Given the description of an element on the screen output the (x, y) to click on. 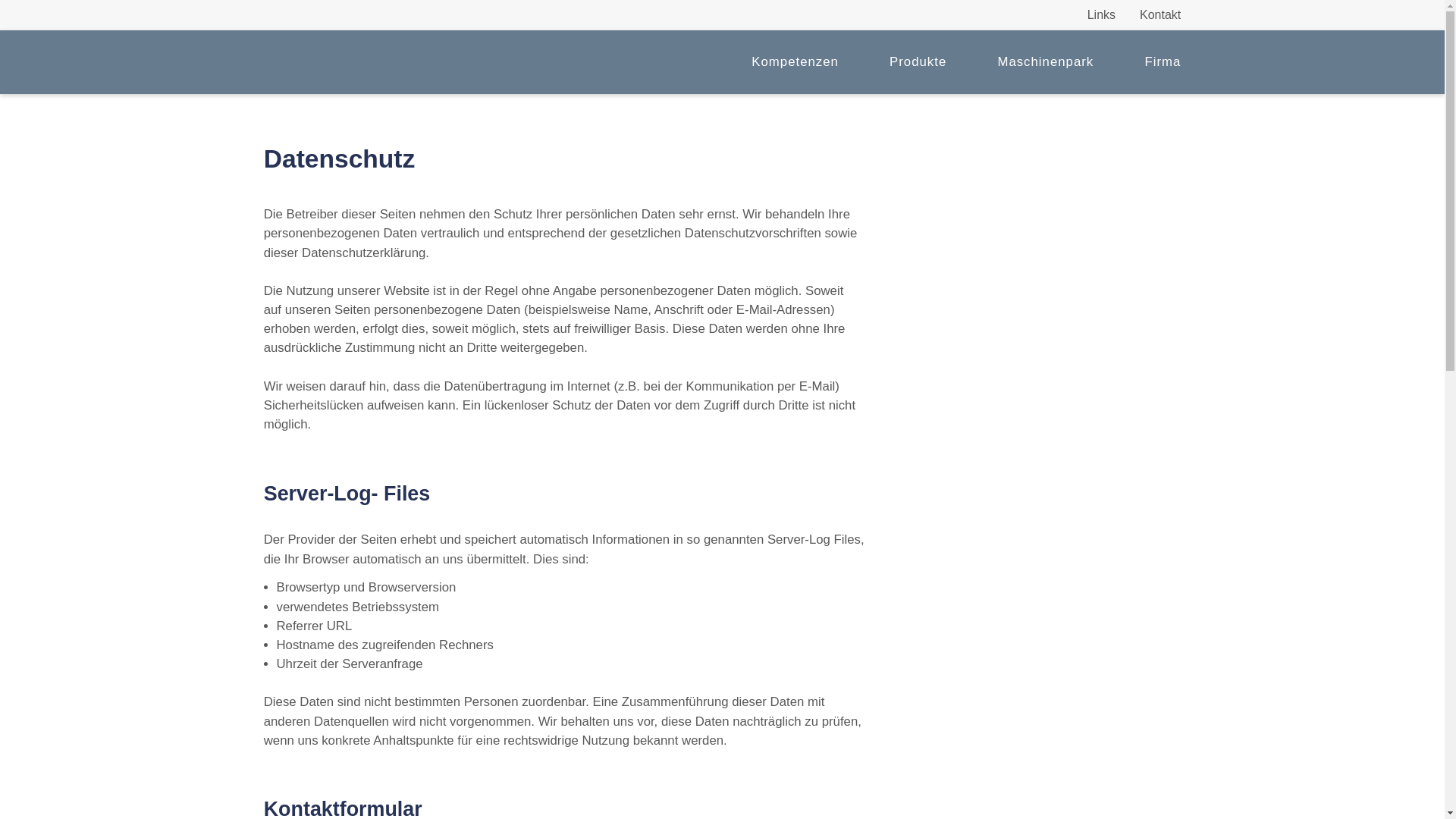
Kompetenzen Element type: text (795, 62)
Links Element type: text (1101, 15)
Firma Element type: text (1162, 62)
Produkte Element type: text (917, 62)
Kontakt Element type: text (1159, 15)
Maschinenpark Element type: text (1045, 62)
